Given the description of an element on the screen output the (x, y) to click on. 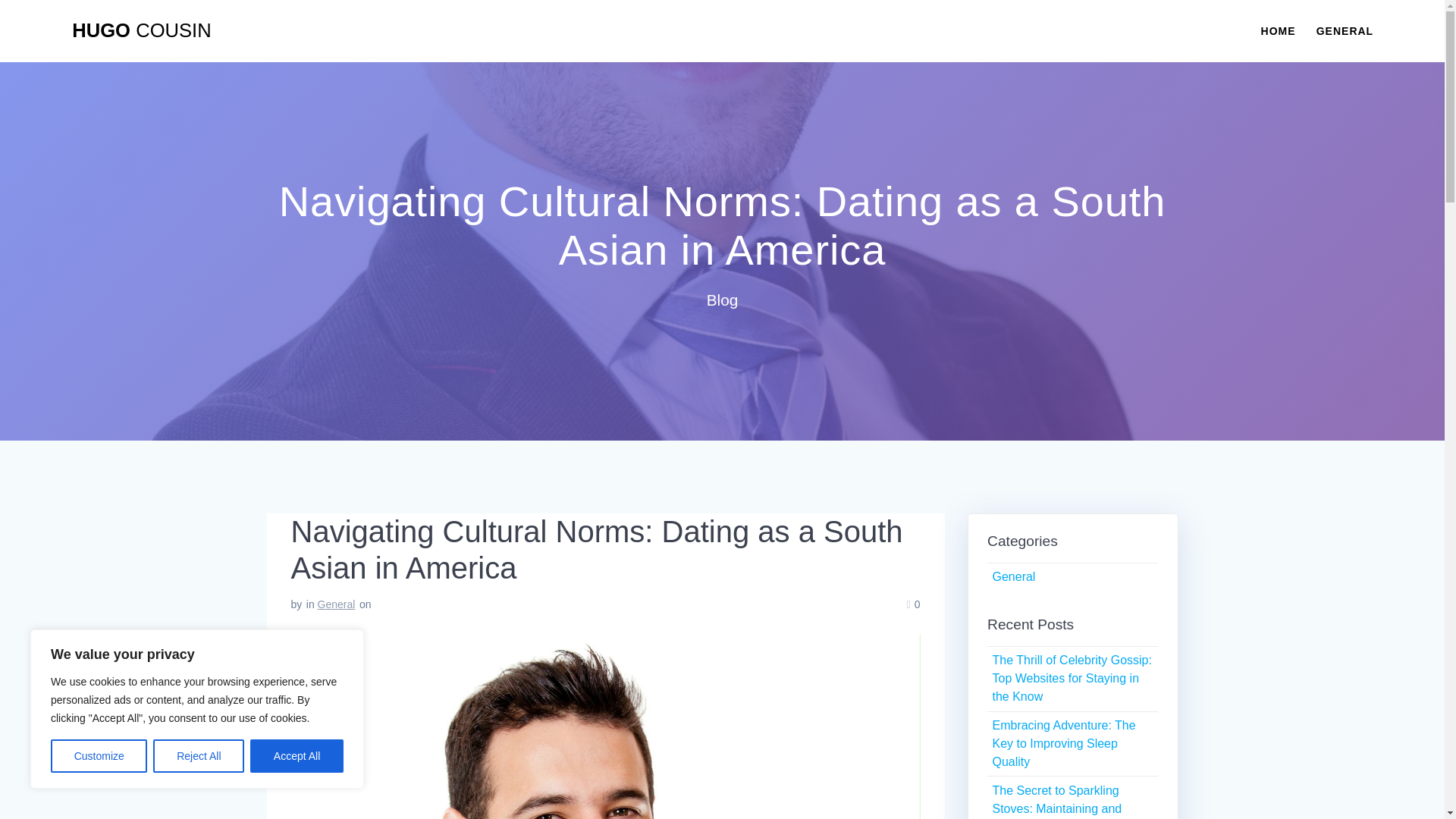
GENERAL (1344, 30)
HOME (1277, 30)
Reject All (198, 756)
Customize (98, 756)
HUGO COUSIN (141, 30)
General (336, 604)
Embracing Adventure: The Key to Improving Sleep Quality (1063, 743)
Accept All (296, 756)
